Given the description of an element on the screen output the (x, y) to click on. 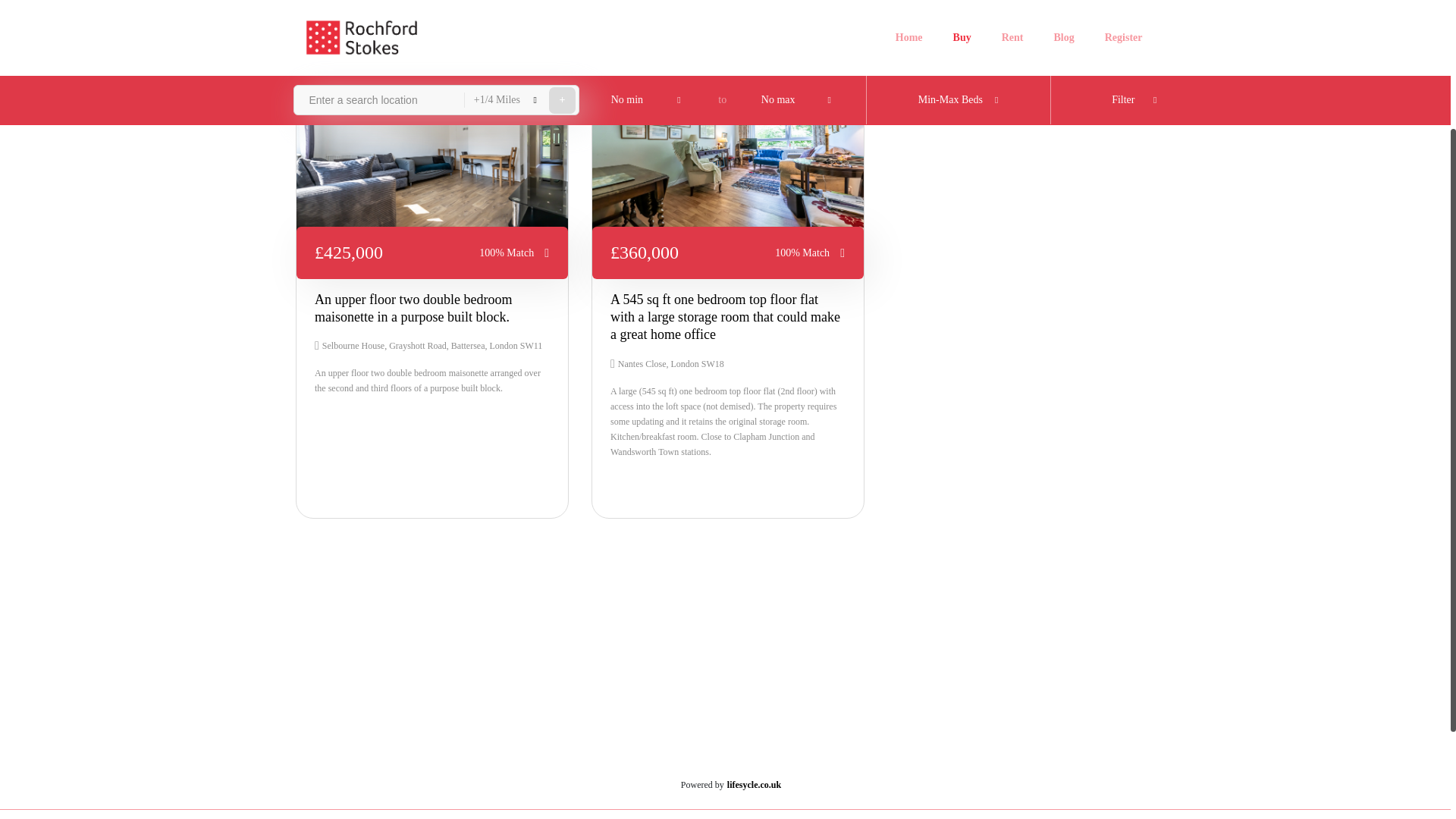
lifesycle.co.uk (753, 784)
